Given the description of an element on the screen output the (x, y) to click on. 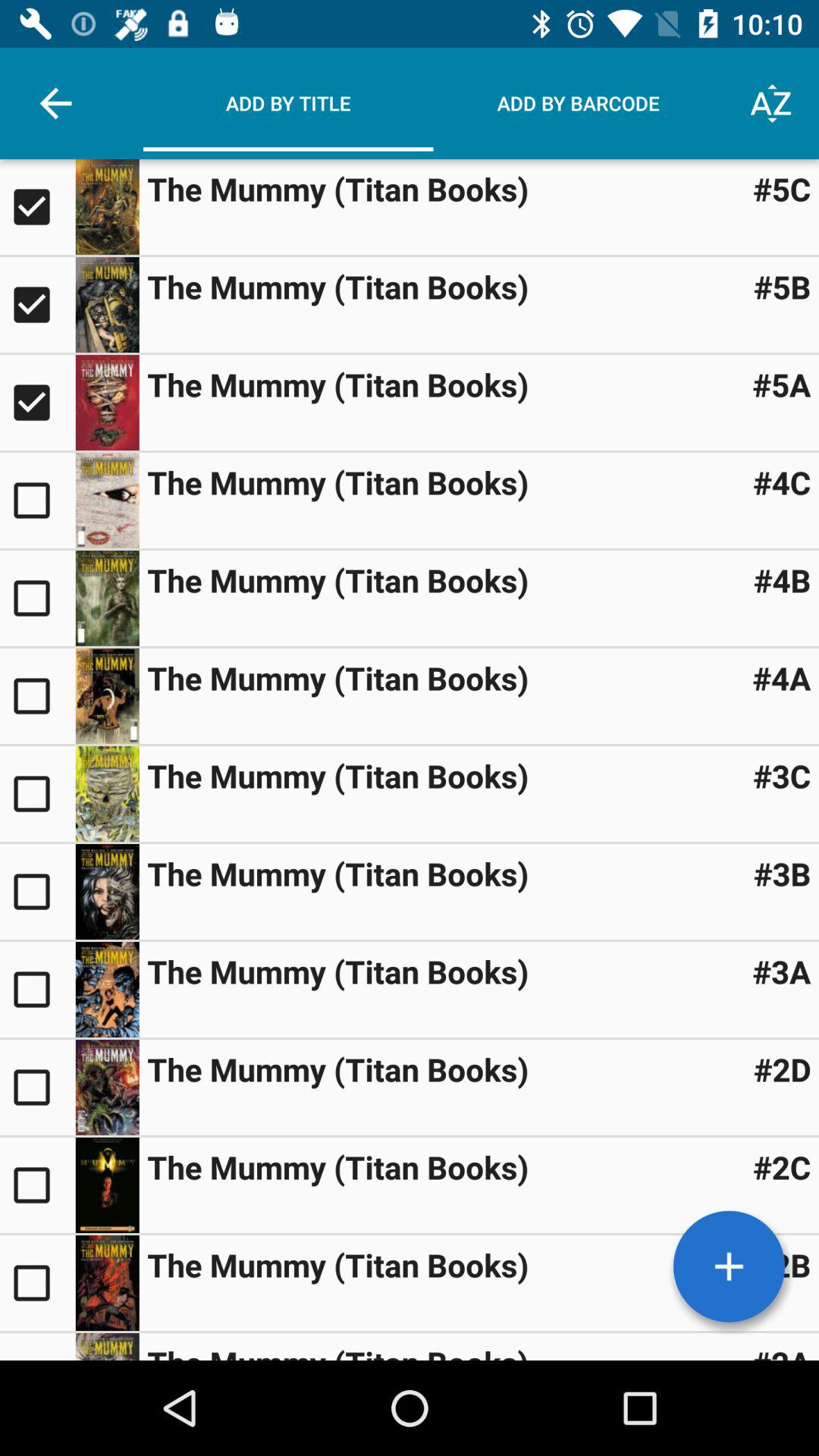
select option (107, 1346)
